Given the description of an element on the screen output the (x, y) to click on. 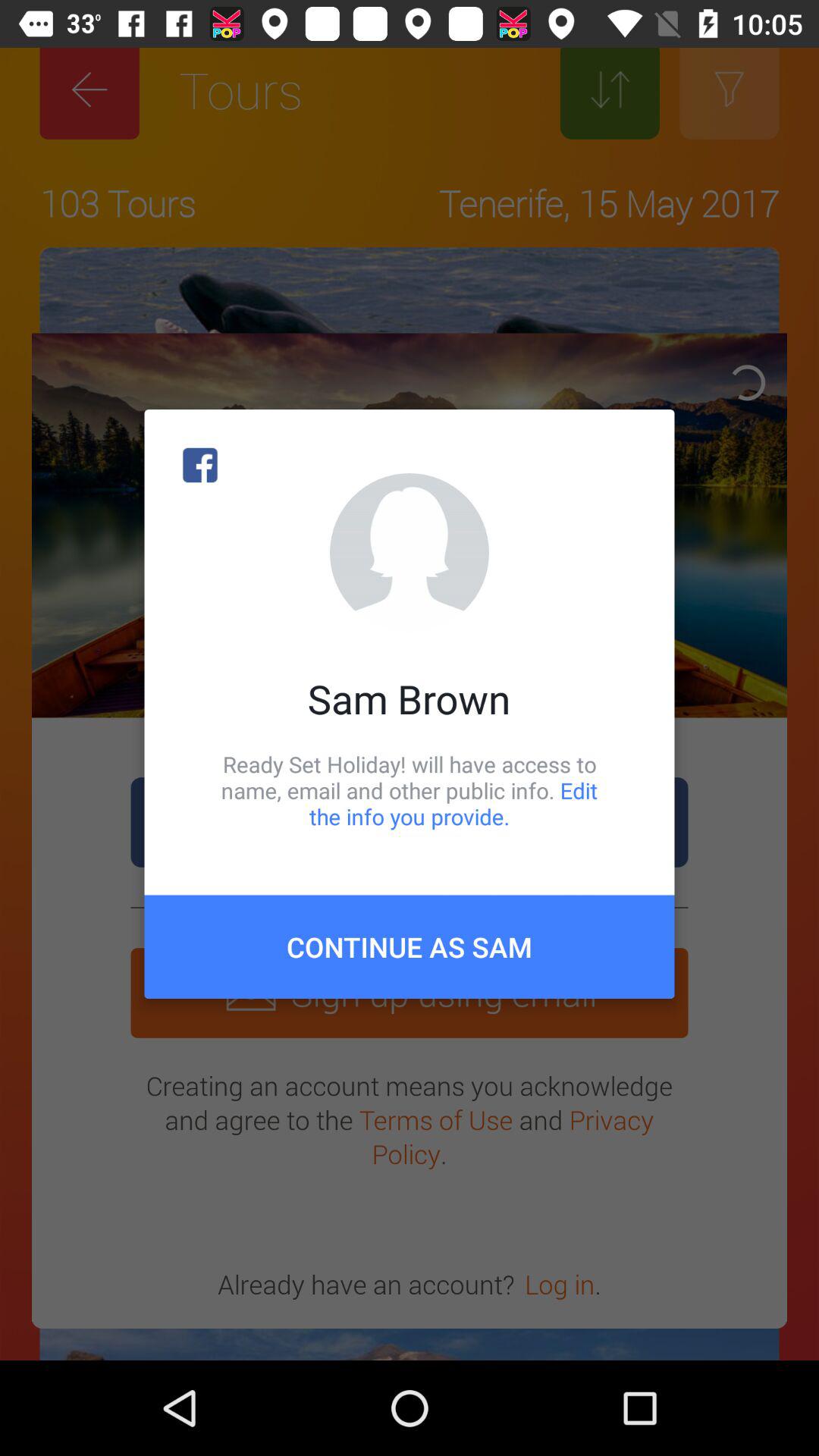
launch item above the continue as sam icon (409, 790)
